Given the description of an element on the screen output the (x, y) to click on. 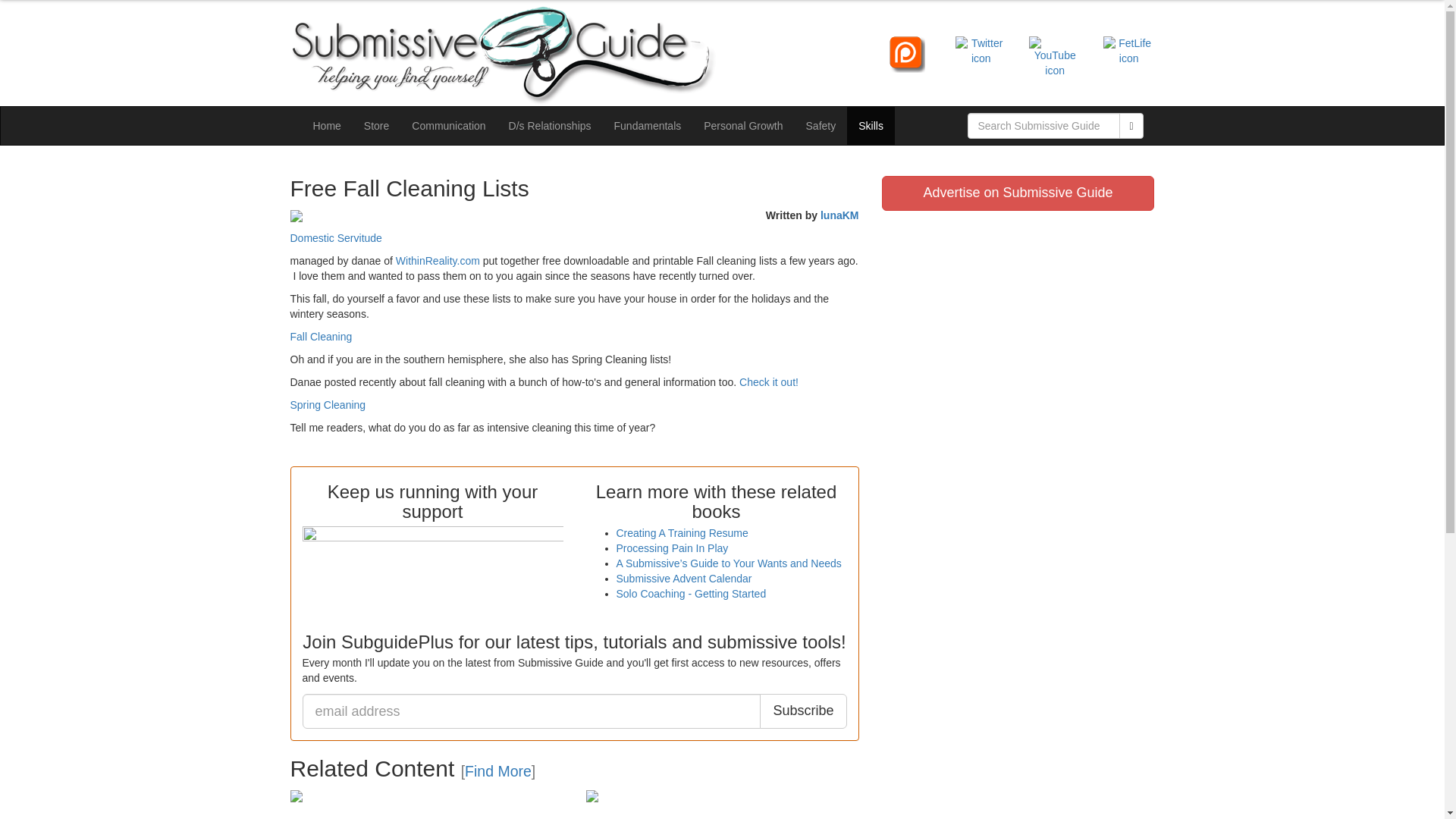
Creating A Training Resume (681, 532)
Submissive Guide (574, 55)
WithinReality.com (438, 260)
Safety (820, 125)
Skills (871, 125)
Support me on Patreon! (906, 53)
Communication (448, 125)
Submissive Advent Calendar (683, 578)
